Given the description of an element on the screen output the (x, y) to click on. 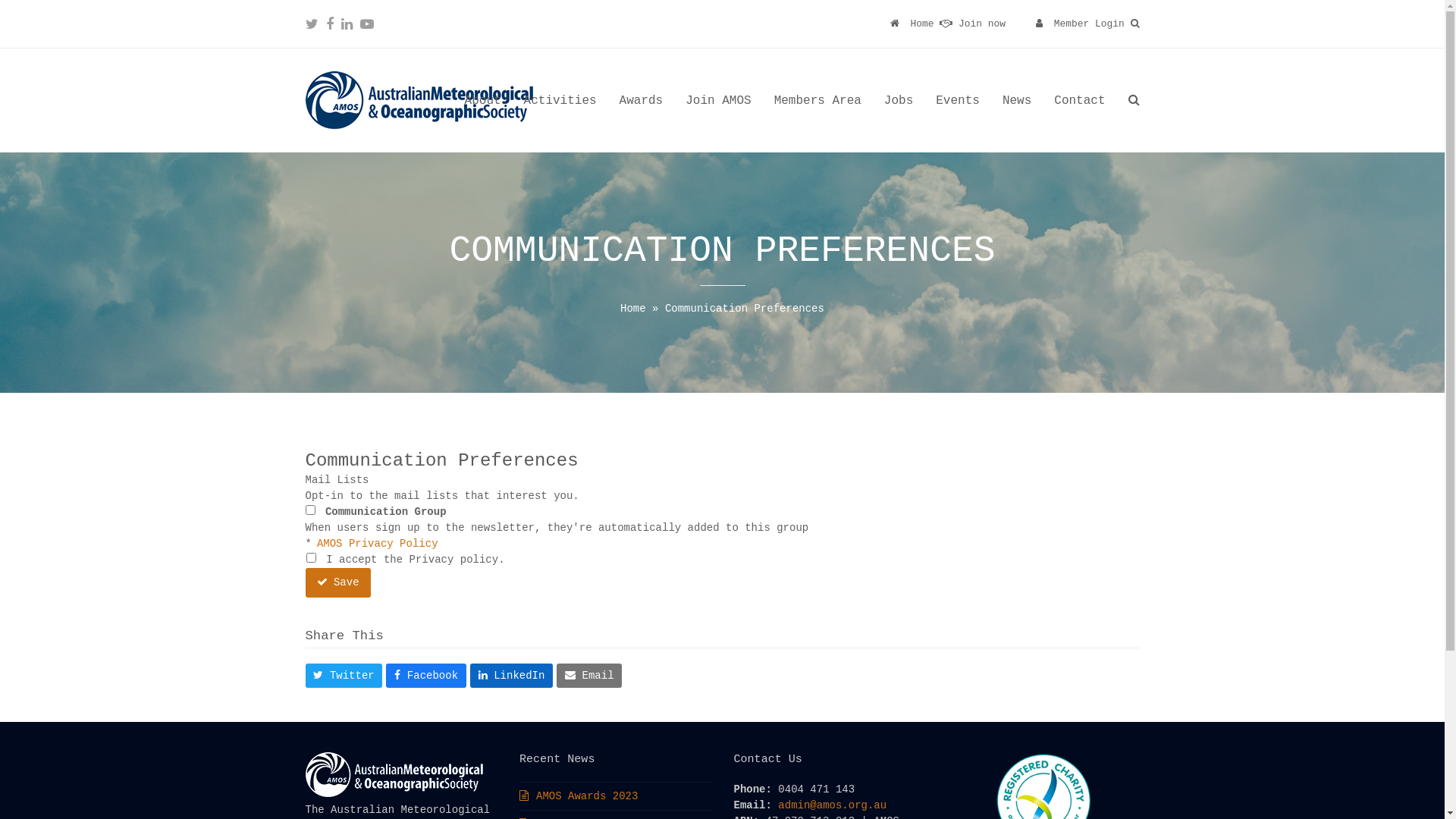
Youtube Element type: text (366, 23)
News Element type: text (1016, 100)
LinkedIn Element type: text (511, 675)
Home Element type: text (633, 308)
Home Element type: text (912, 23)
Facebook Element type: text (425, 675)
Join AMOS Element type: text (718, 100)
Facebook Element type: text (329, 23)
Members Area Element type: text (817, 100)
AMOS Privacy Policy Element type: text (377, 543)
admin@amos.org.au Element type: text (832, 805)
Twitter Element type: text (310, 23)
Activities Element type: text (560, 100)
AMOS Awards 2023 Element type: text (578, 796)
Events Element type: text (957, 100)
Jobs Element type: text (898, 100)
Join now Element type: text (972, 23)
Awards Element type: text (641, 100)
Twitter Element type: text (343, 675)
Save Element type: text (337, 581)
Email Element type: text (588, 675)
Member Login Element type: text (1089, 23)
About Element type: text (482, 100)
Contact Element type: text (1079, 100)
LinkedIn Element type: text (346, 23)
